Given the description of an element on the screen output the (x, y) to click on. 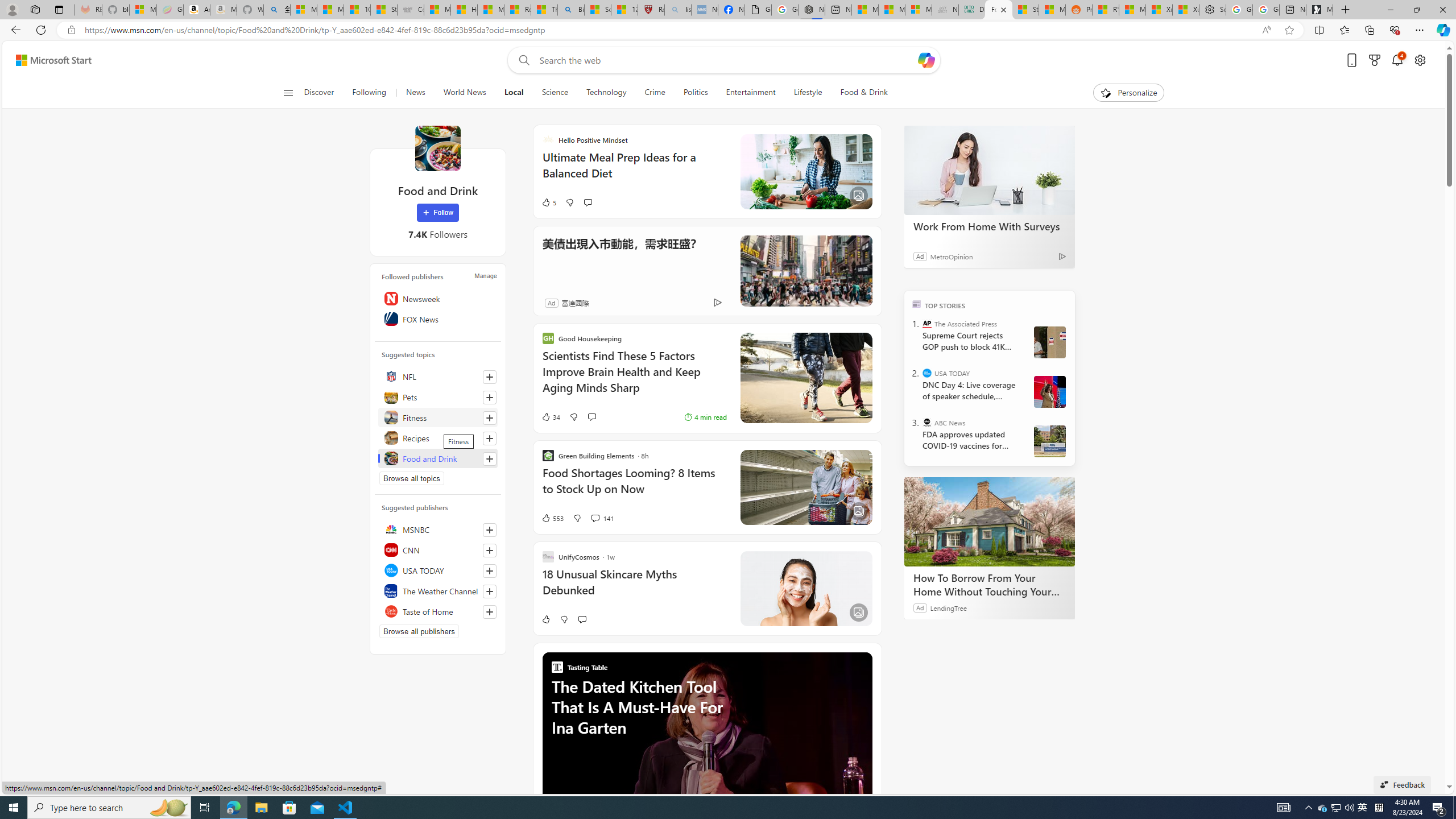
Microsoft rewards (1374, 60)
5 Like (547, 202)
Technology (606, 92)
MSNBC (437, 529)
Follow this source (489, 611)
Food Shortages Looming? 8 Items to Stock Up on Now (633, 486)
